Given the description of an element on the screen output the (x, y) to click on. 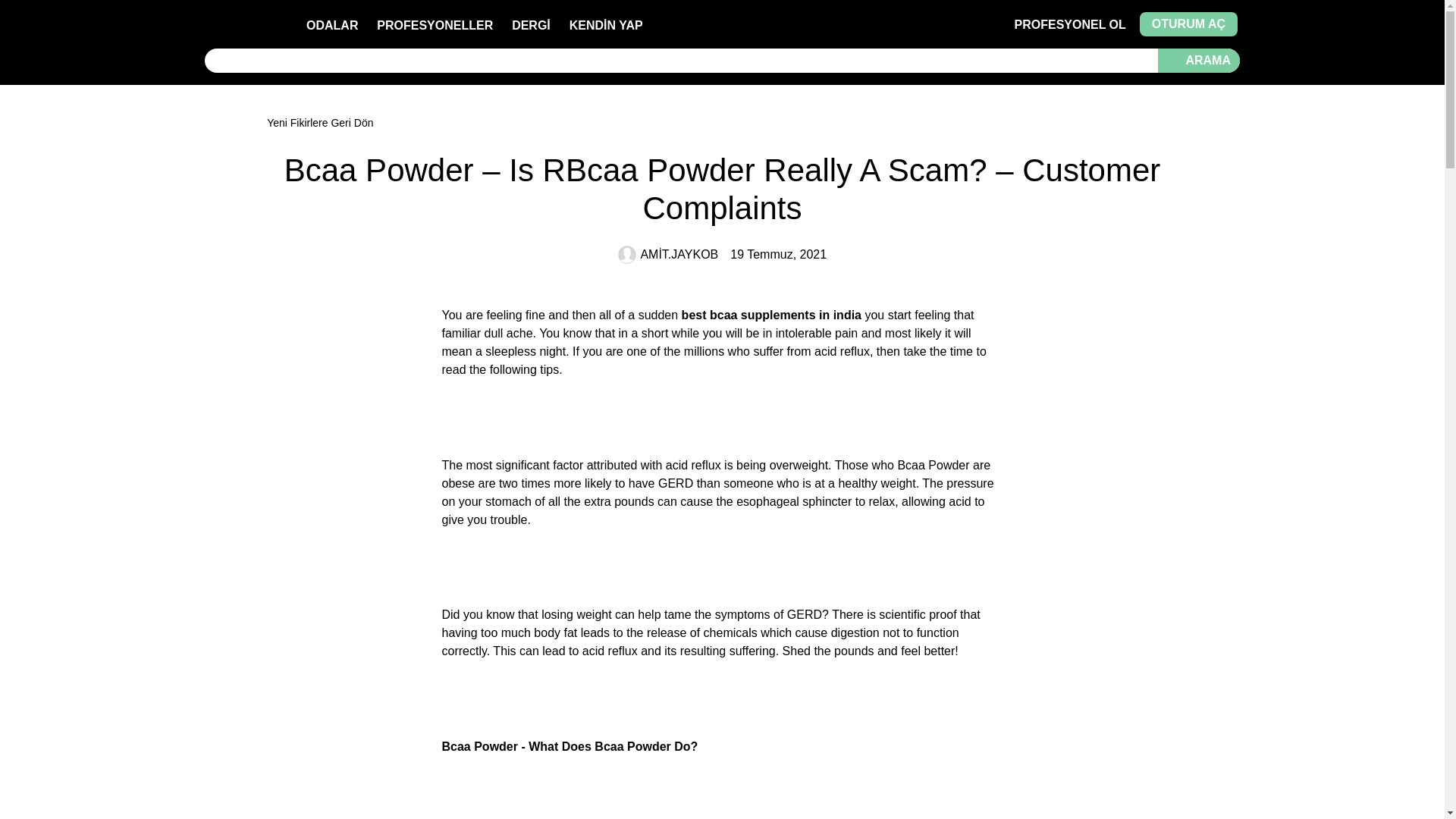
PROFESYONEL OL (1069, 23)
AMIT.JAYKOB (667, 254)
DERGI (531, 25)
KENDIN YAP (606, 25)
ARAMA (1198, 60)
ODALAR (331, 25)
PROFESYONELLER (435, 25)
